Given the description of an element on the screen output the (x, y) to click on. 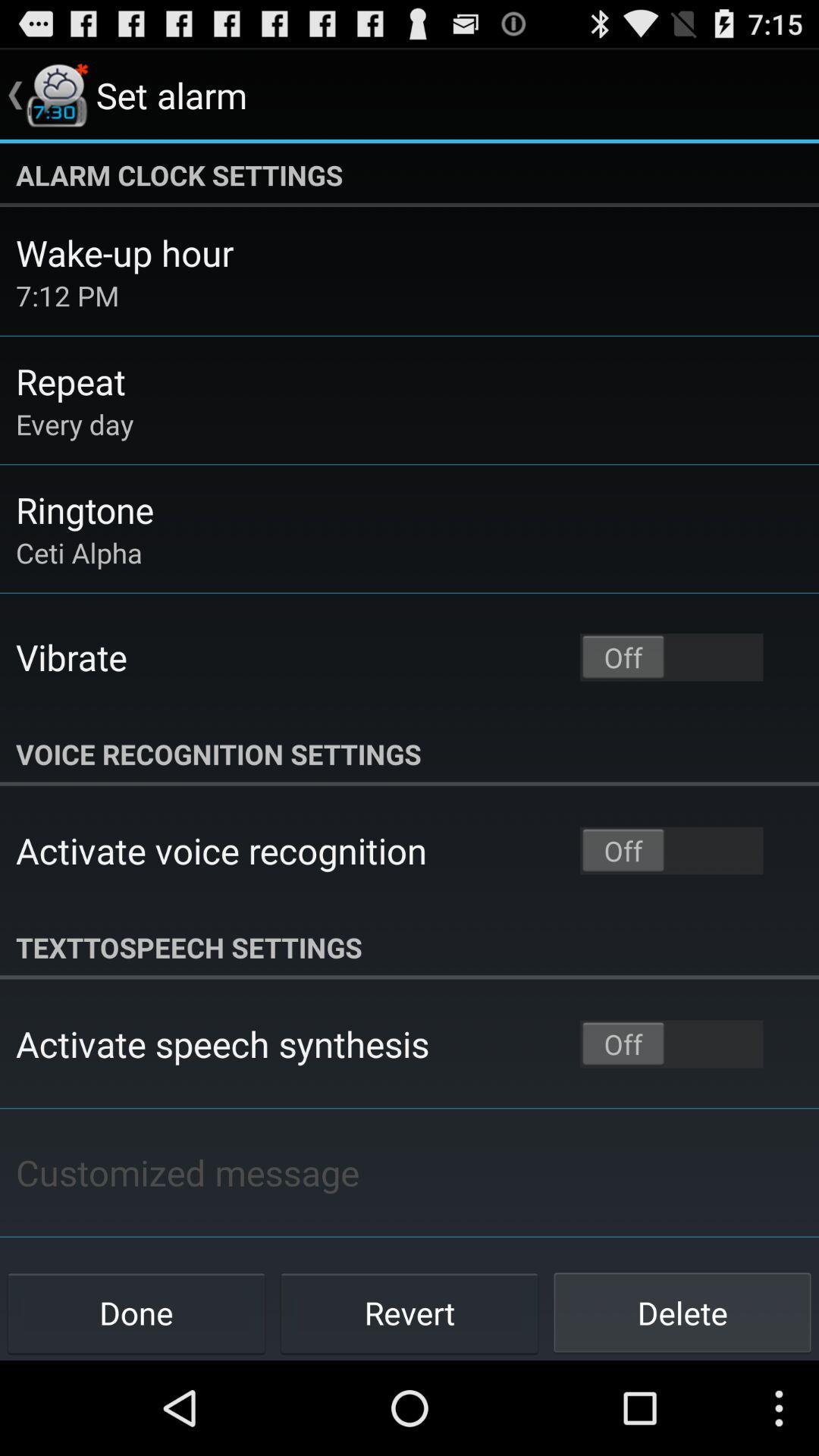
flip until the repeat app (70, 381)
